Given the description of an element on the screen output the (x, y) to click on. 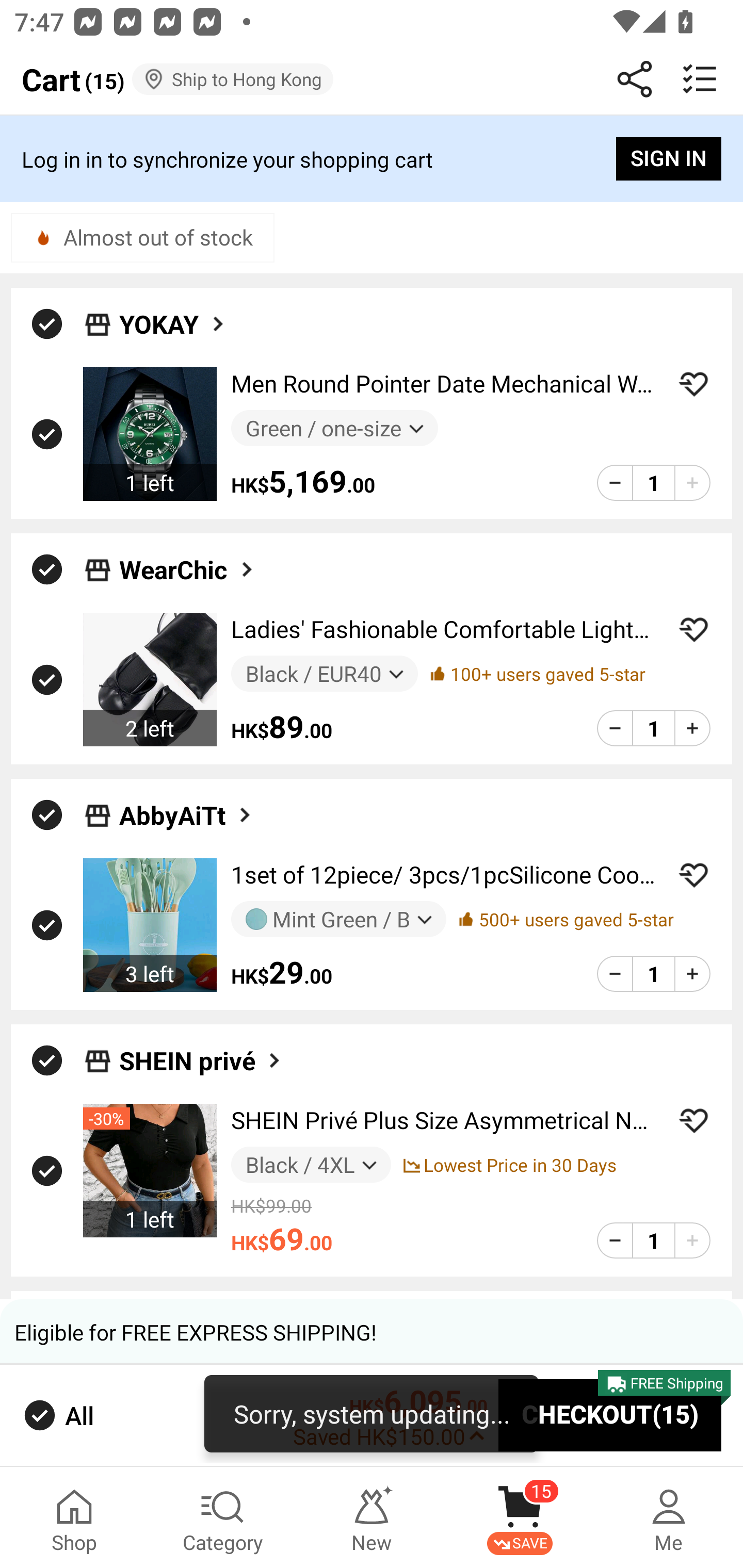
Cart (15) Ship to Hong Kong Share batch delete (371, 79)
Share (634, 79)
batch delete (699, 79)
Ship to Hong Kong (232, 78)
SIGN IN (668, 158)
Almost out of stock (142, 237)
YOKAY (173, 323)
ADD TO WISHLIST (693, 383)
Green / one-size (334, 428)
product quantity minus 1 (614, 482)
1 edit product quantity (653, 482)
product quantity add 1 (692, 482)
WearChic (187, 568)
ADD TO WISHLIST (693, 629)
Black / EUR40 (324, 673)
product quantity minus 1 (614, 728)
1 edit product quantity (653, 728)
product quantity add 1 (692, 728)
AbbyAiTt (186, 815)
ADD TO WISHLIST (693, 874)
 Mint Green / B (338, 919)
product quantity minus 1 (614, 974)
1 edit product quantity (653, 974)
product quantity add 1 (692, 974)
SHEIN privé (201, 1059)
ADD TO WISHLIST (693, 1119)
Black / 4XL (310, 1164)
product quantity minus 1 (614, 1241)
1 edit product quantity (653, 1241)
product quantity add 1 (692, 1241)
Eligible for FREE EXPRESS SHIPPING! (371, 1331)
CHECKOUT(15) (609, 1415)
All (57, 1415)
Shop (74, 1517)
Category (222, 1517)
New (371, 1517)
Me (668, 1517)
